Given the description of an element on the screen output the (x, y) to click on. 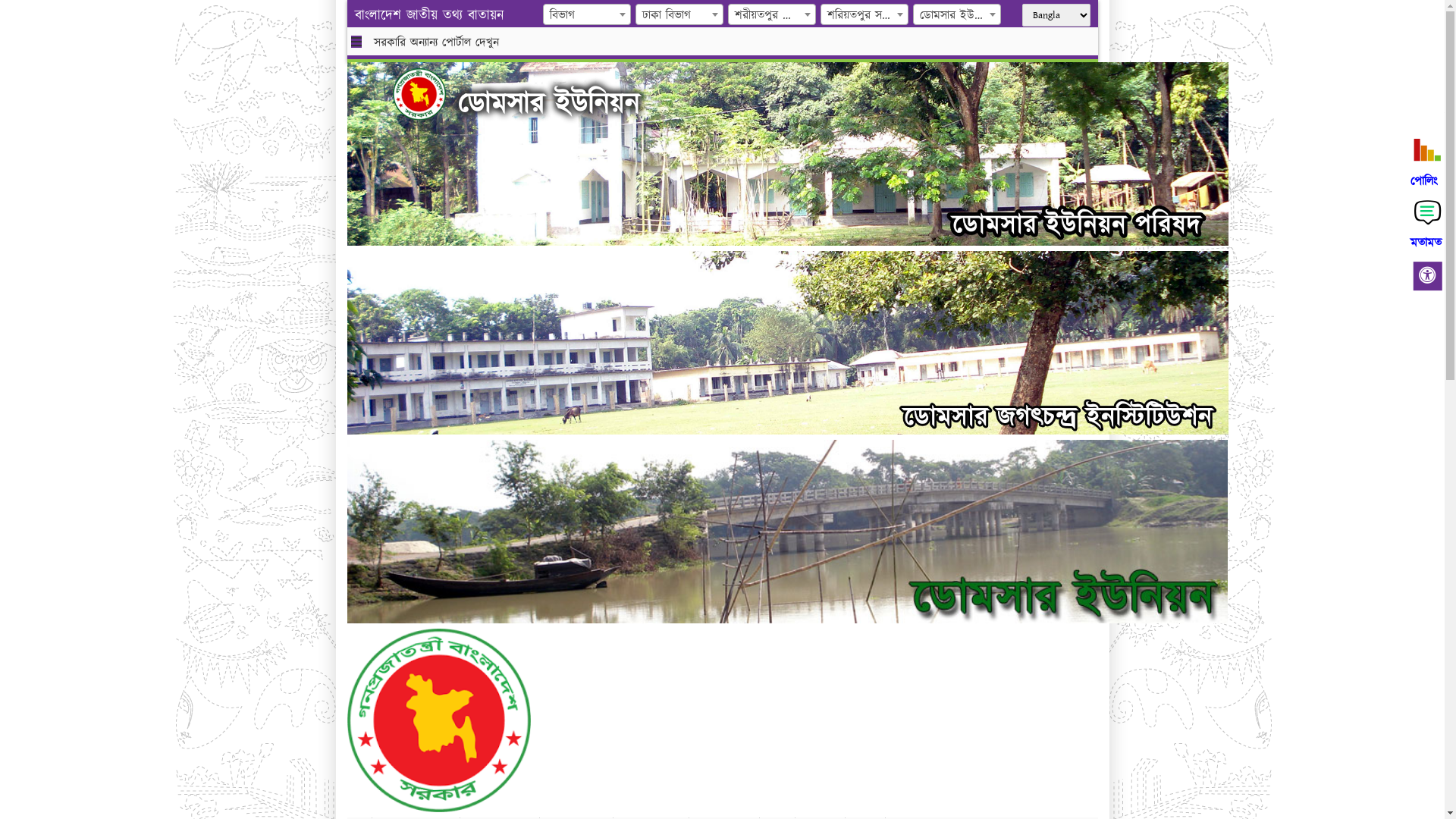

                
             Element type: hover (430, 93)
